Given the description of an element on the screen output the (x, y) to click on. 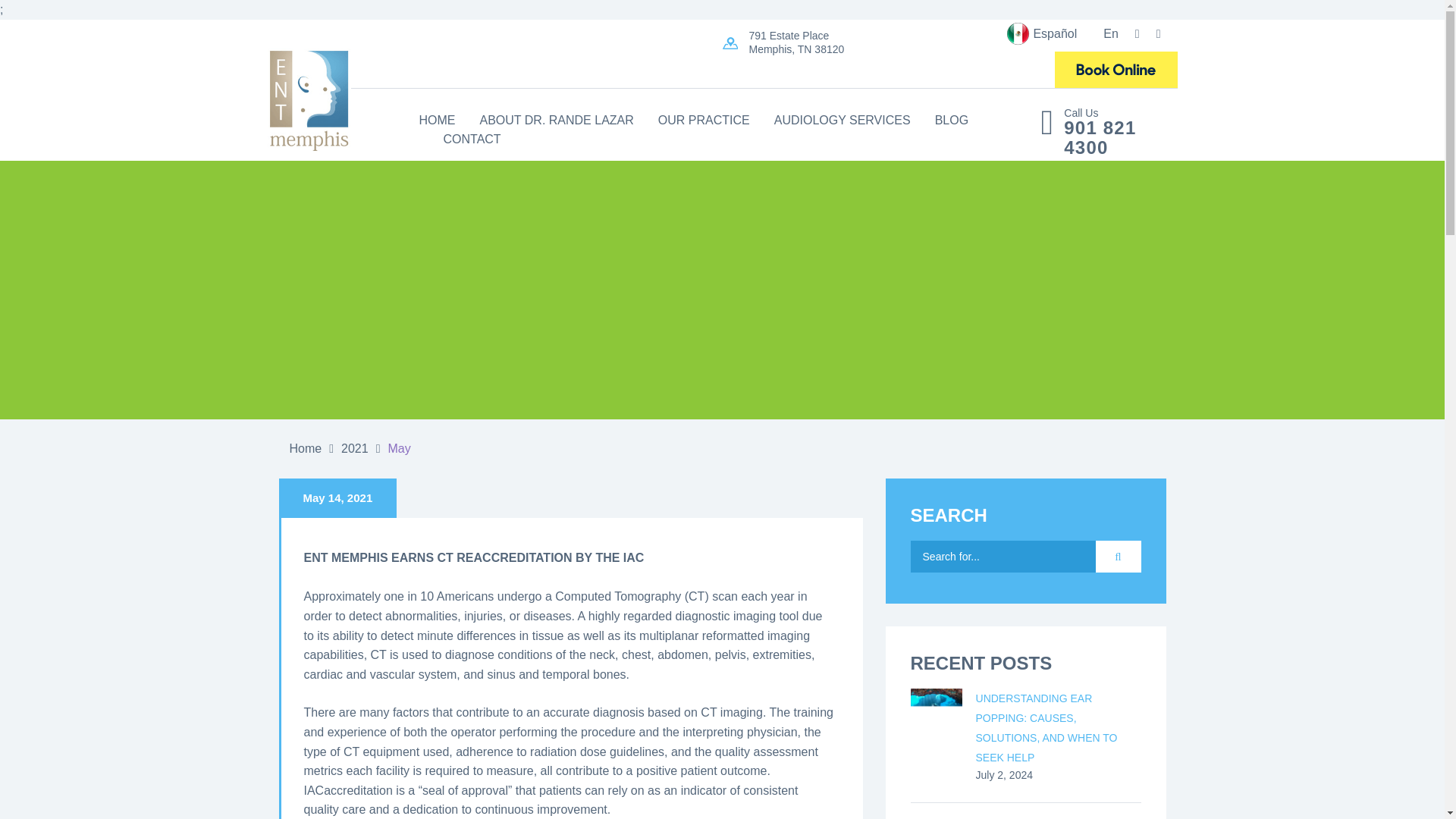
AUDIOLOGY SERVICES (842, 119)
En (1097, 33)
ENT Memphis  (1115, 69)
HOME (436, 119)
Spanish (1041, 33)
Home (305, 448)
901 821 4300 (1108, 137)
ENT Memphis  (949, 69)
BLOG (951, 119)
2021 (354, 448)
